Given the description of an element on the screen output the (x, y) to click on. 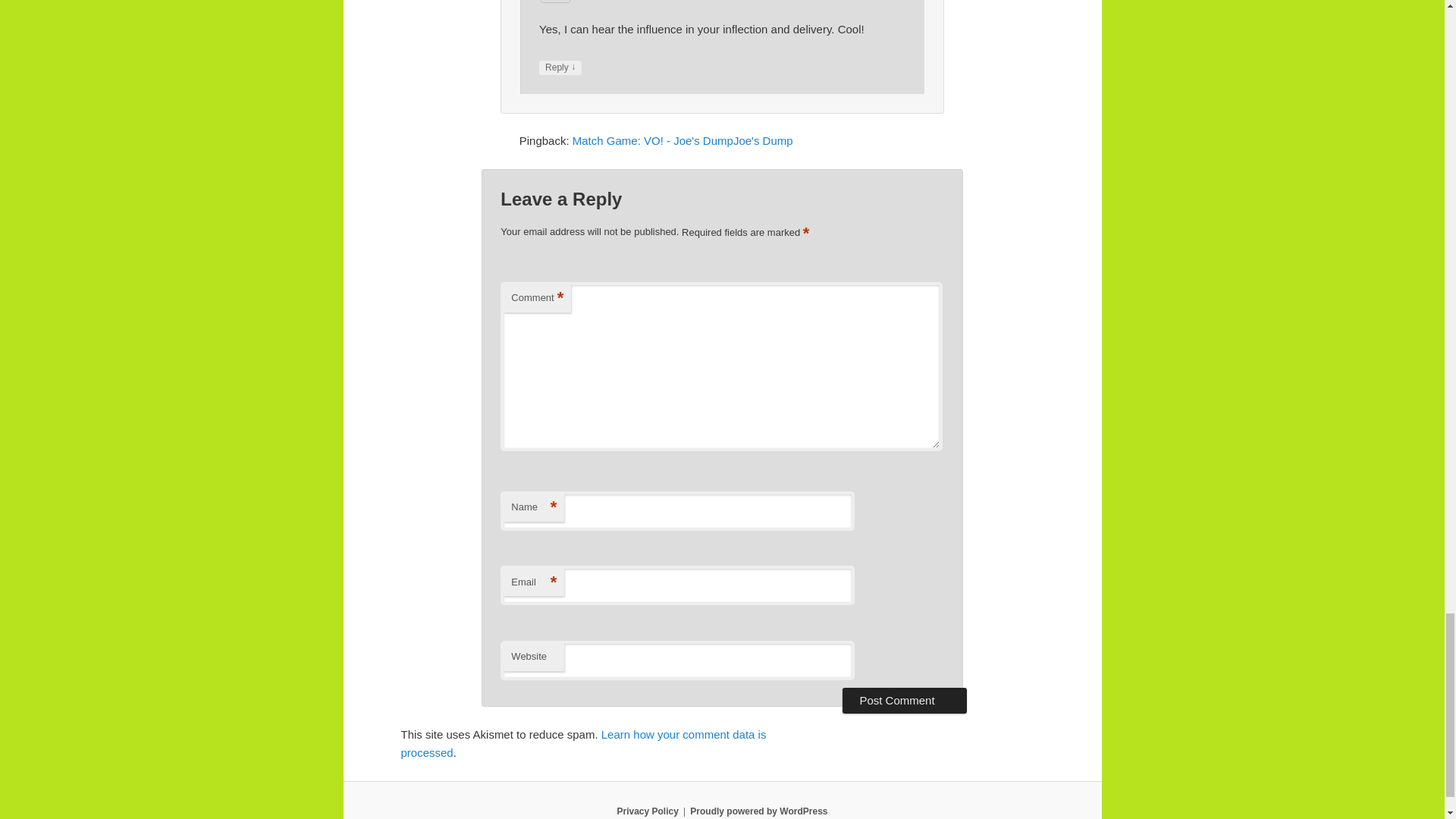
Post Comment (904, 700)
Semantic Personal Publishing Platform (758, 810)
